Given the description of an element on the screen output the (x, y) to click on. 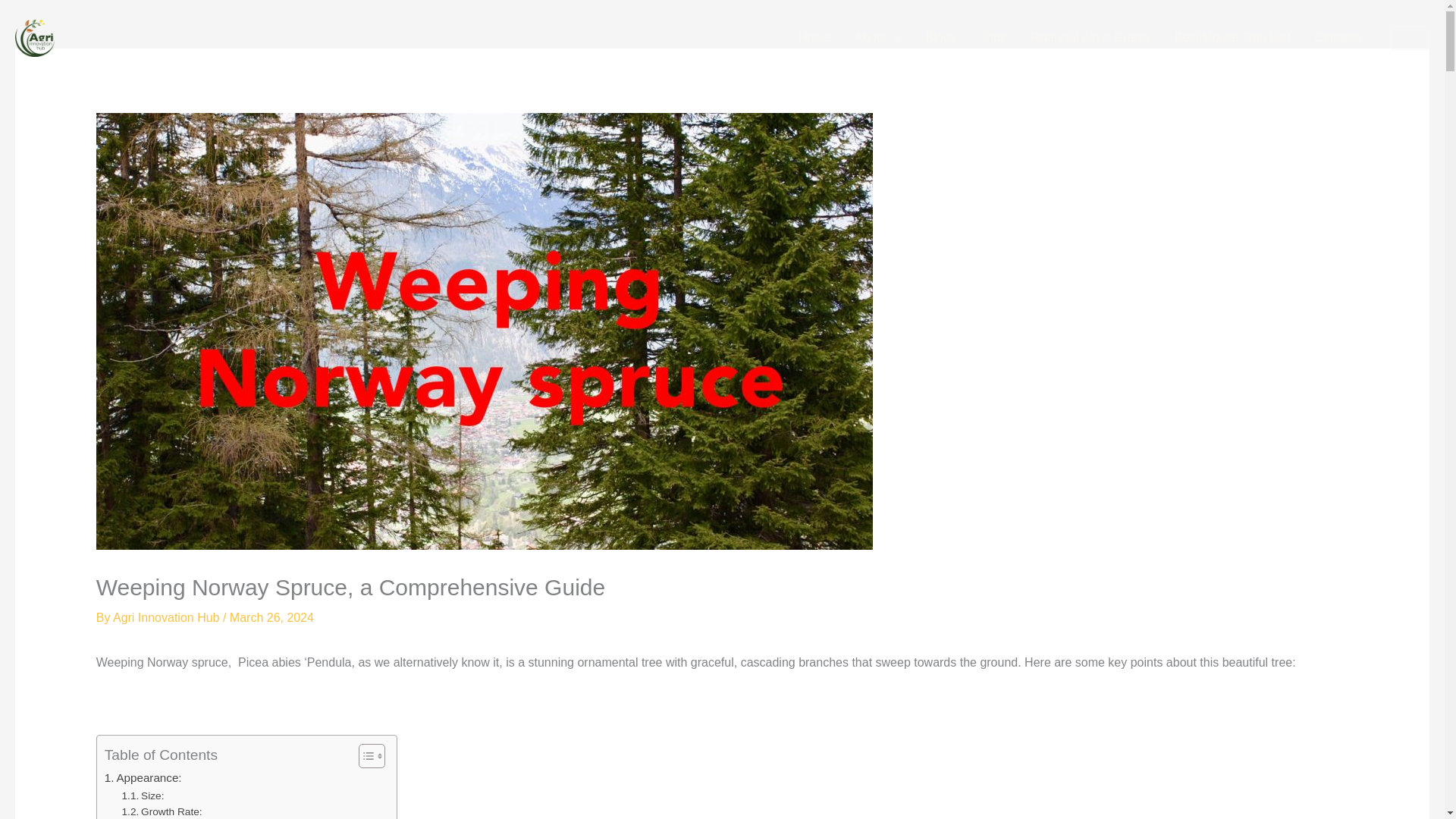
About (877, 37)
Growth Rate: (162, 811)
Jobs (992, 37)
Home (814, 37)
Blogs (941, 37)
Best Mouse Trap Bait (1232, 37)
Size: (143, 795)
Contacts (1338, 37)
Appearance: (143, 778)
View all posts by Agri Innovation Hub (167, 617)
Agri Innovation Hub (167, 617)
Size: (143, 795)
Appearance: (143, 778)
Growth Rate: (162, 811)
